Given the description of an element on the screen output the (x, y) to click on. 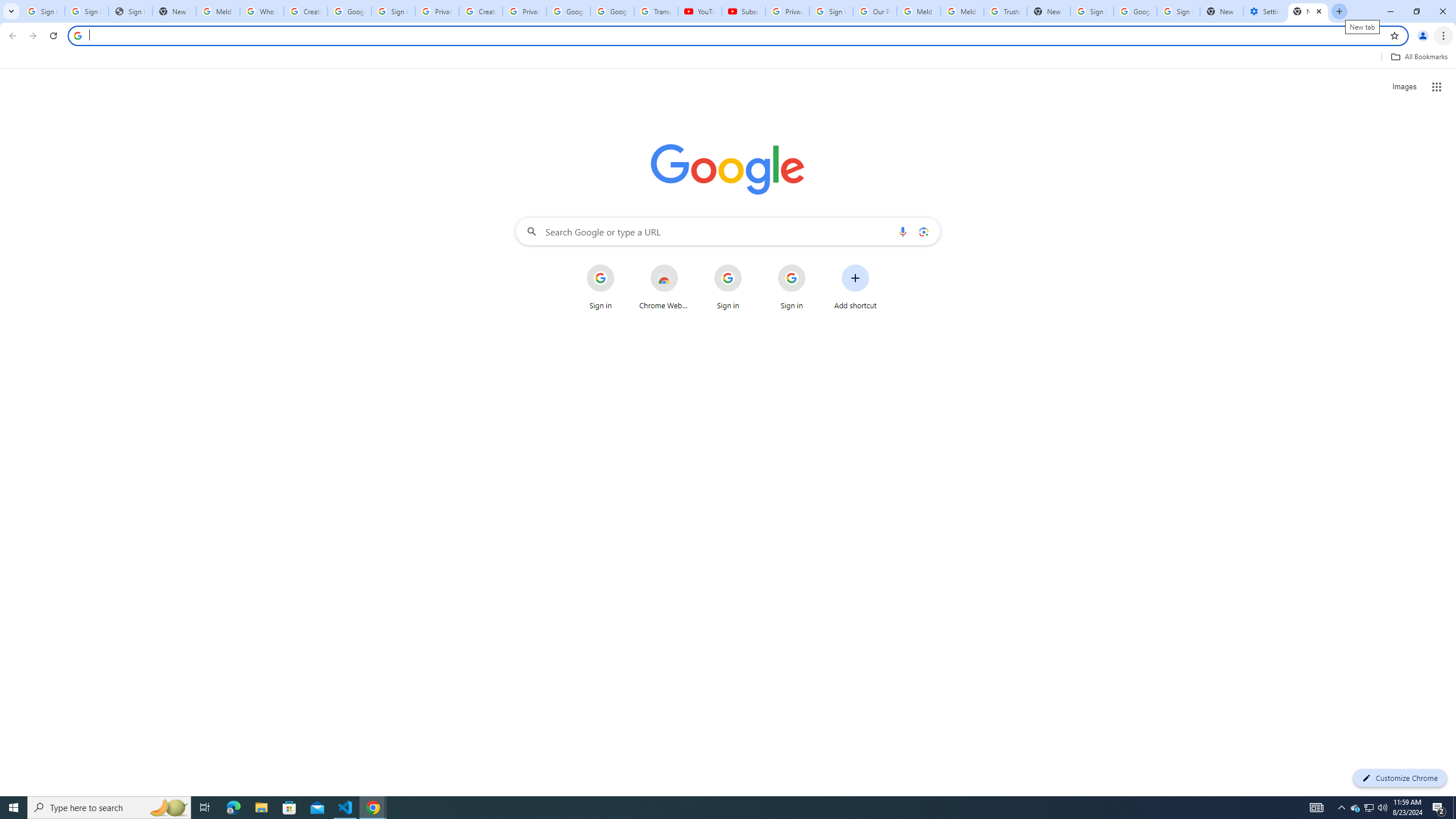
Sign In - USA TODAY (130, 11)
More actions for Chrome Web Store shortcut (686, 265)
Subscriptions - YouTube (743, 11)
Google Cybersecurity Innovations - Google Safety Center (1134, 11)
New Tab (1308, 11)
Bookmarks (728, 58)
Search Google or type a URL (727, 230)
New Tab (1221, 11)
